Given the description of an element on the screen output the (x, y) to click on. 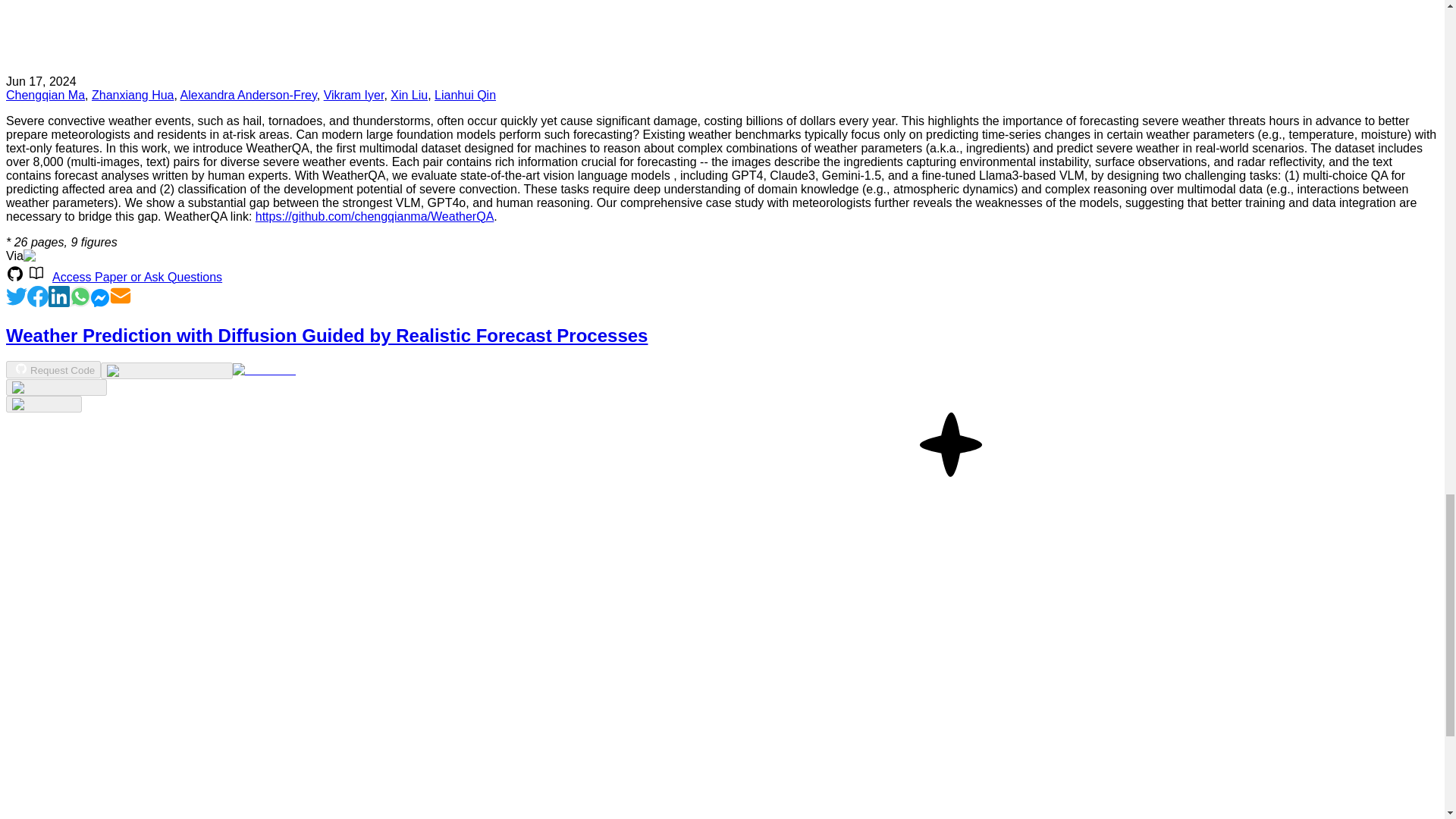
Twitter Icon (16, 296)
Get alerts when new code is available for this paper (43, 403)
Whatsapp Icon (79, 302)
Alexandra Anderson-Frey (248, 94)
Email Icon (120, 295)
Facebook Icon (37, 296)
Zhanxiang Hua (132, 94)
Linkedin Icon (58, 302)
View code for similar papers (165, 370)
Send via Messenger (99, 302)
